Given the description of an element on the screen output the (x, y) to click on. 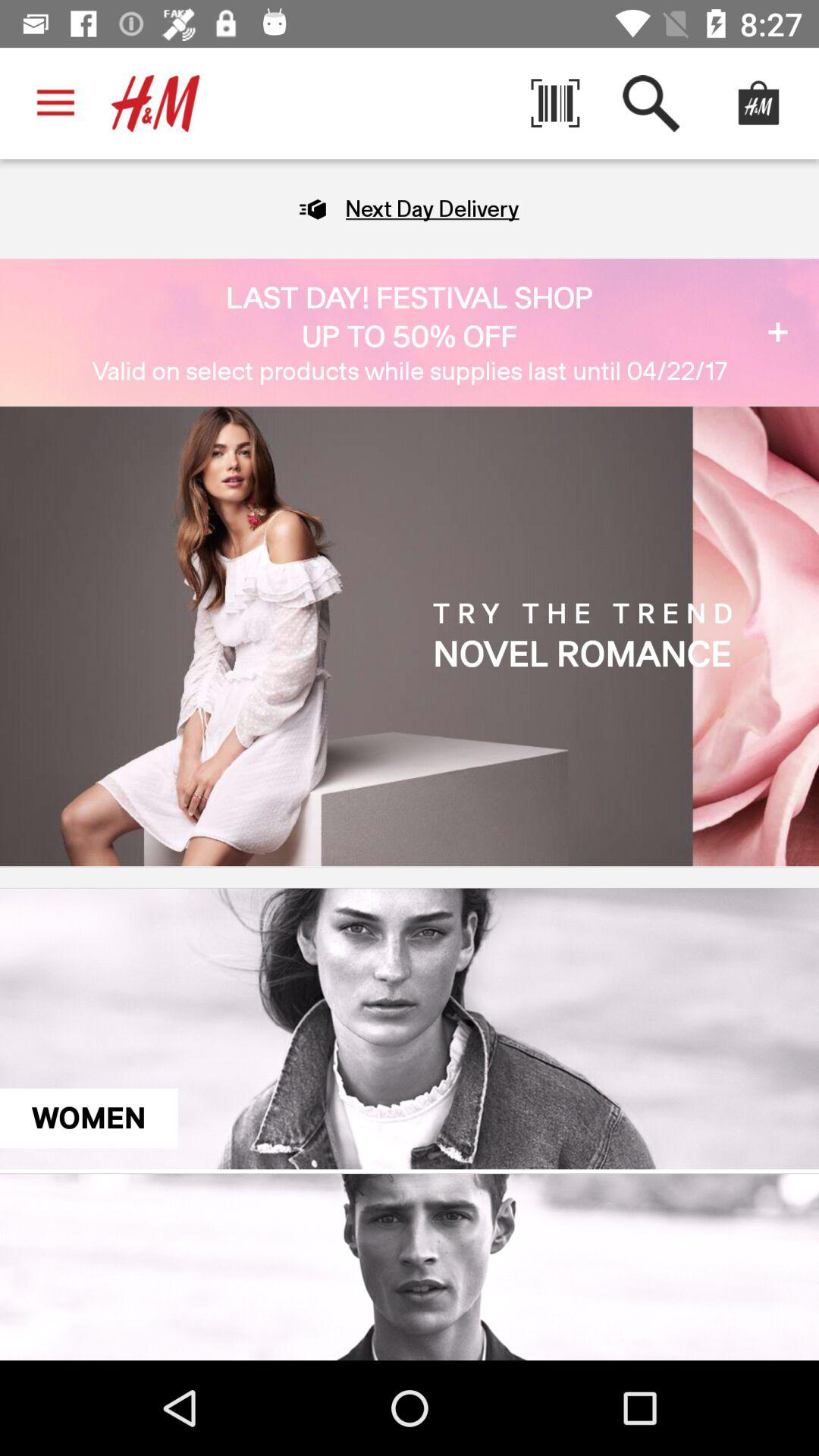
launch the next day delivery item (432, 208)
